Given the description of an element on the screen output the (x, y) to click on. 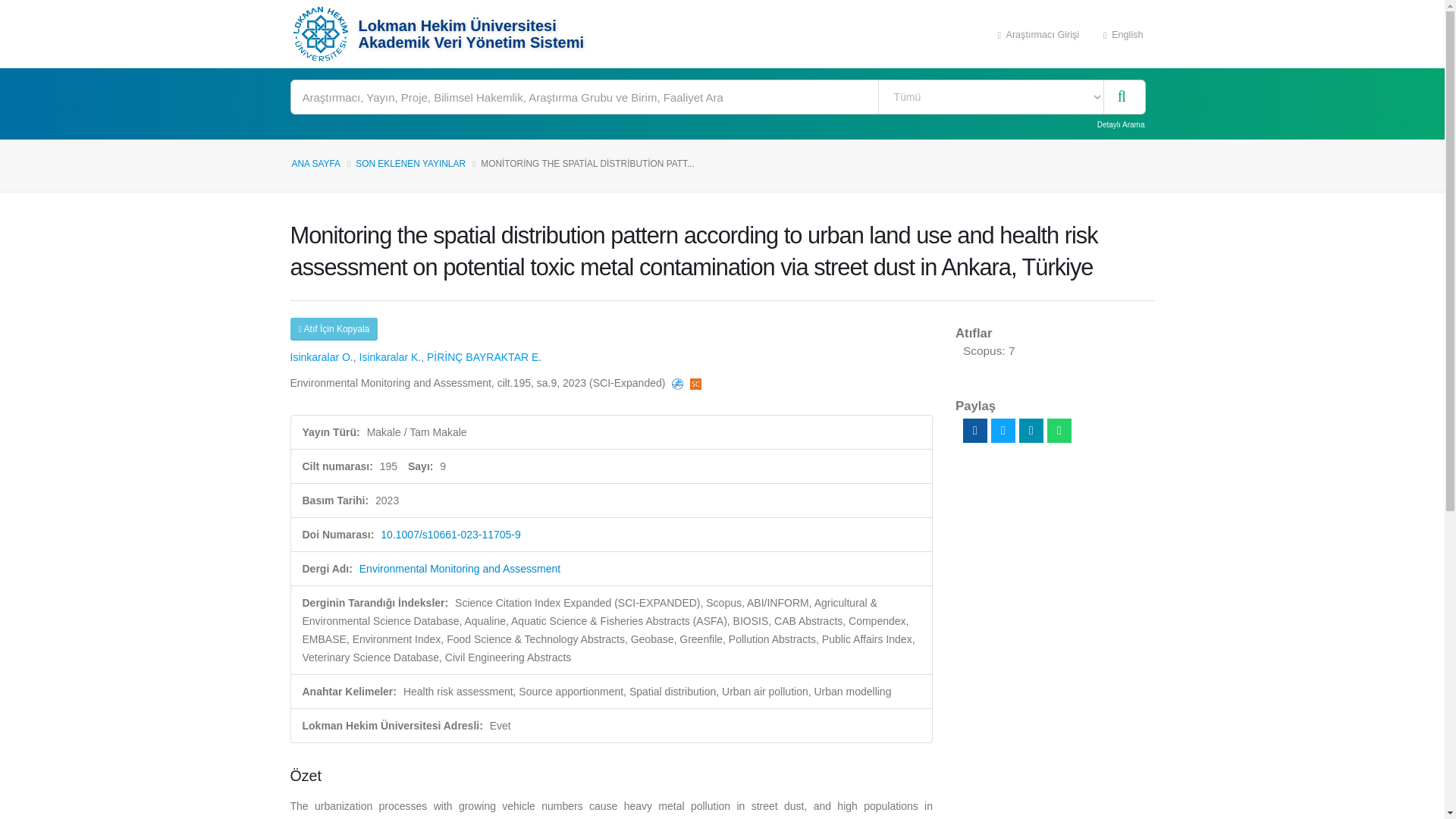
English (1123, 33)
ANA SAYFA (315, 163)
SON EKLENEN YAYINLAR (410, 163)
Kaan Isinkaralar (390, 357)
Oznur Isinkaralar (320, 357)
Isinkaralar O. (320, 357)
Isinkaralar K. (390, 357)
Environmental Monitoring and Assessment (459, 568)
